Given the description of an element on the screen output the (x, y) to click on. 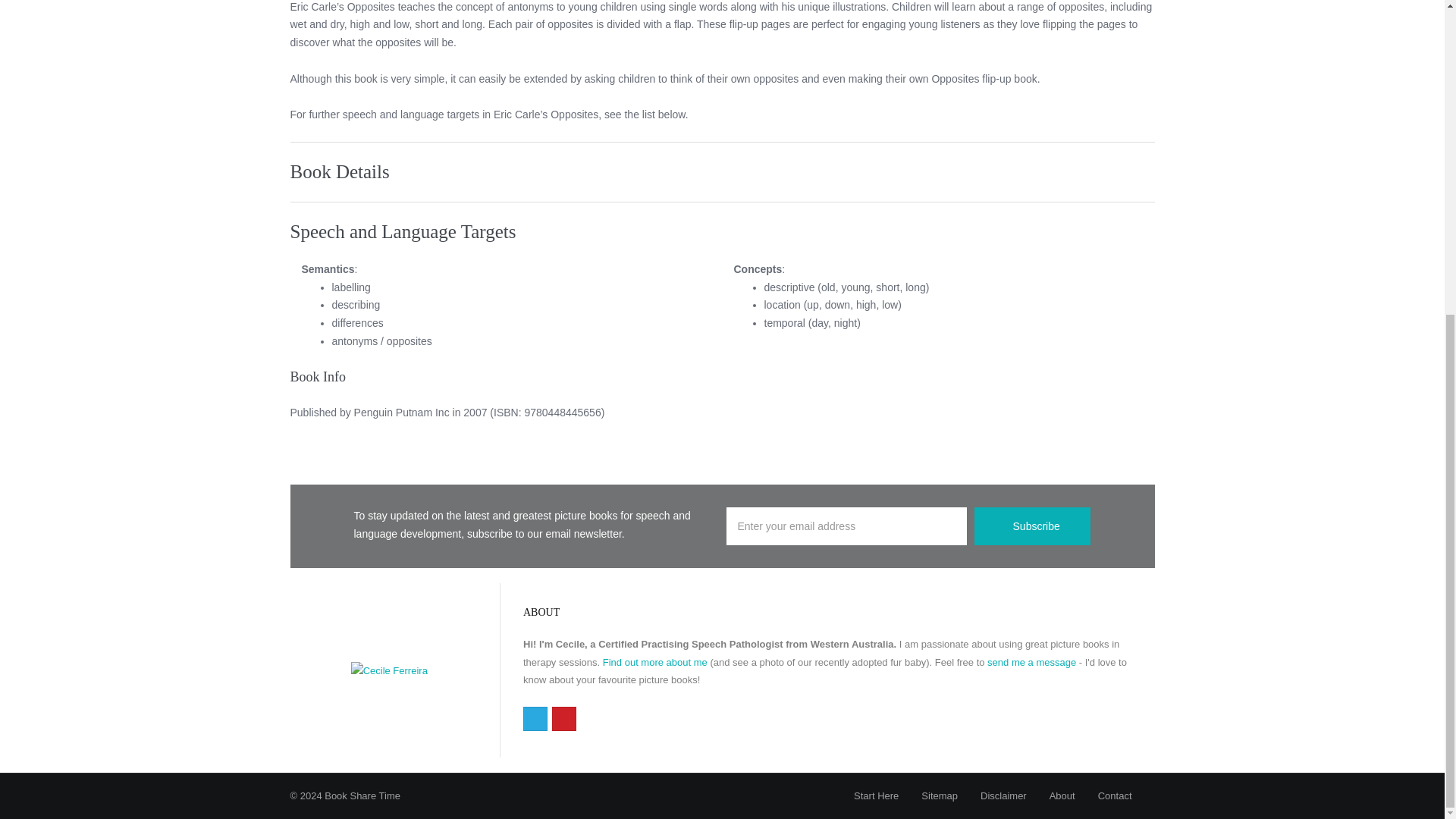
Subscribe (1032, 525)
send me a message (1031, 662)
Find out more about me (654, 662)
